Given the description of an element on the screen output the (x, y) to click on. 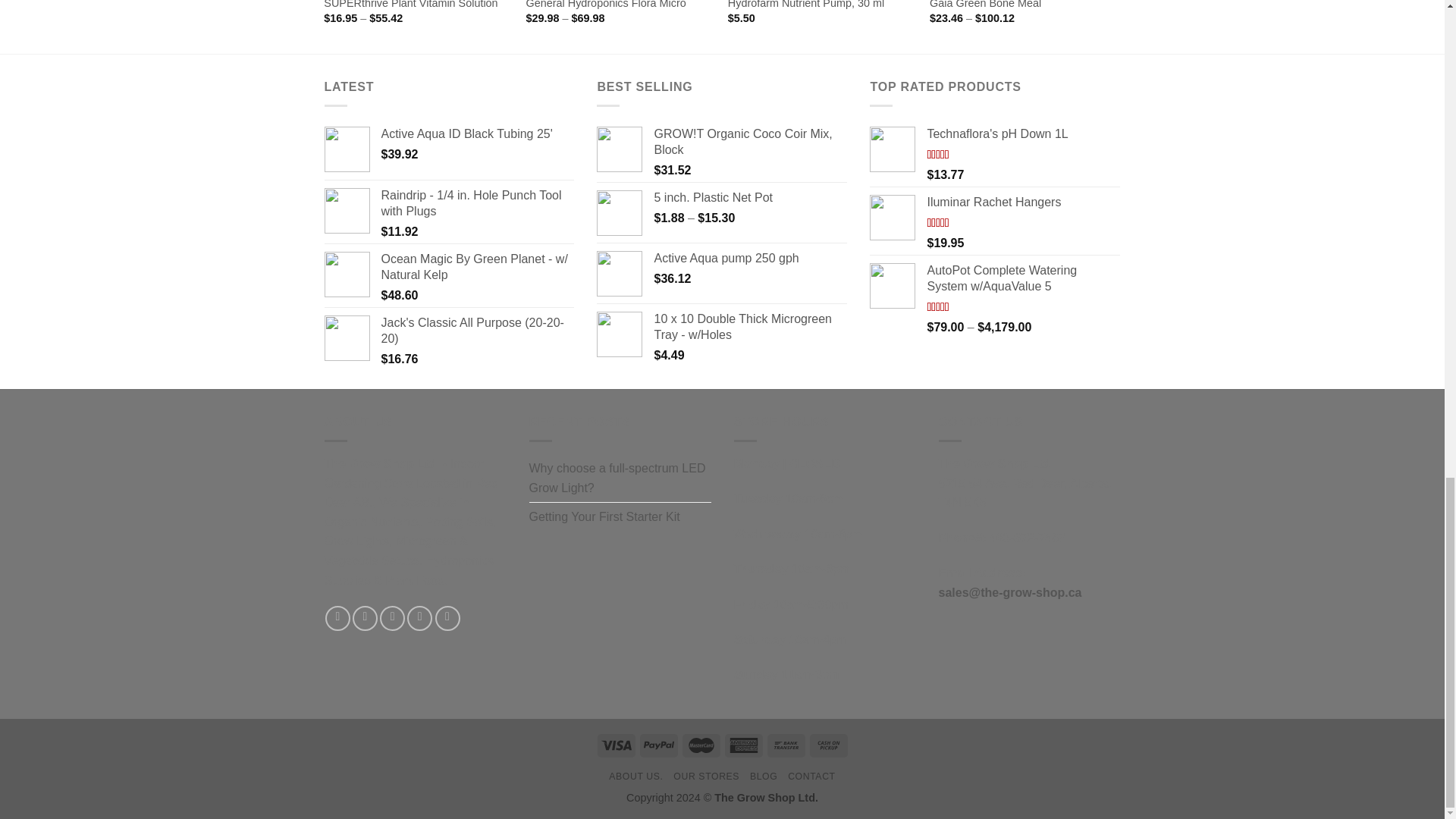
Follow on Instagram (364, 618)
Follow on Twitter (392, 618)
Follow on Facebook (337, 618)
